Given the description of an element on the screen output the (x, y) to click on. 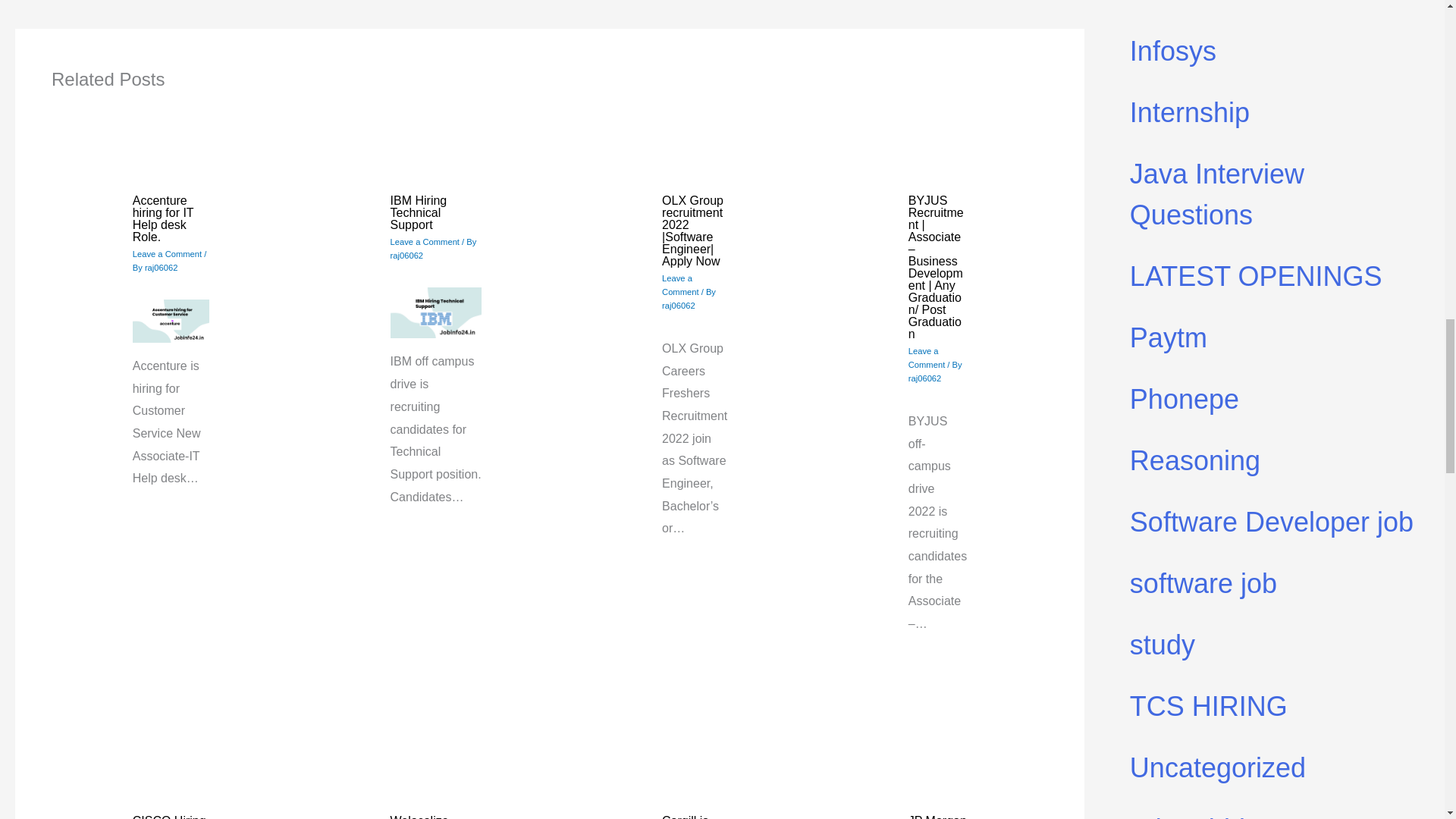
IBM Hiring Technical Support 3 (435, 313)
Accenture hiring for IT Help desk Role. 2 (170, 321)
raj06062 (678, 305)
View all posts by raj06062 (406, 255)
View all posts by raj06062 (160, 266)
IBM Hiring Technical Support (418, 212)
Leave a Comment (680, 284)
Leave a Comment (167, 253)
View all posts by raj06062 (678, 305)
Accenture hiring for IT Help desk Role. (162, 218)
View all posts by raj06062 (925, 378)
raj06062 (160, 266)
raj06062 (406, 255)
Leave a Comment (425, 241)
